Given the description of an element on the screen output the (x, y) to click on. 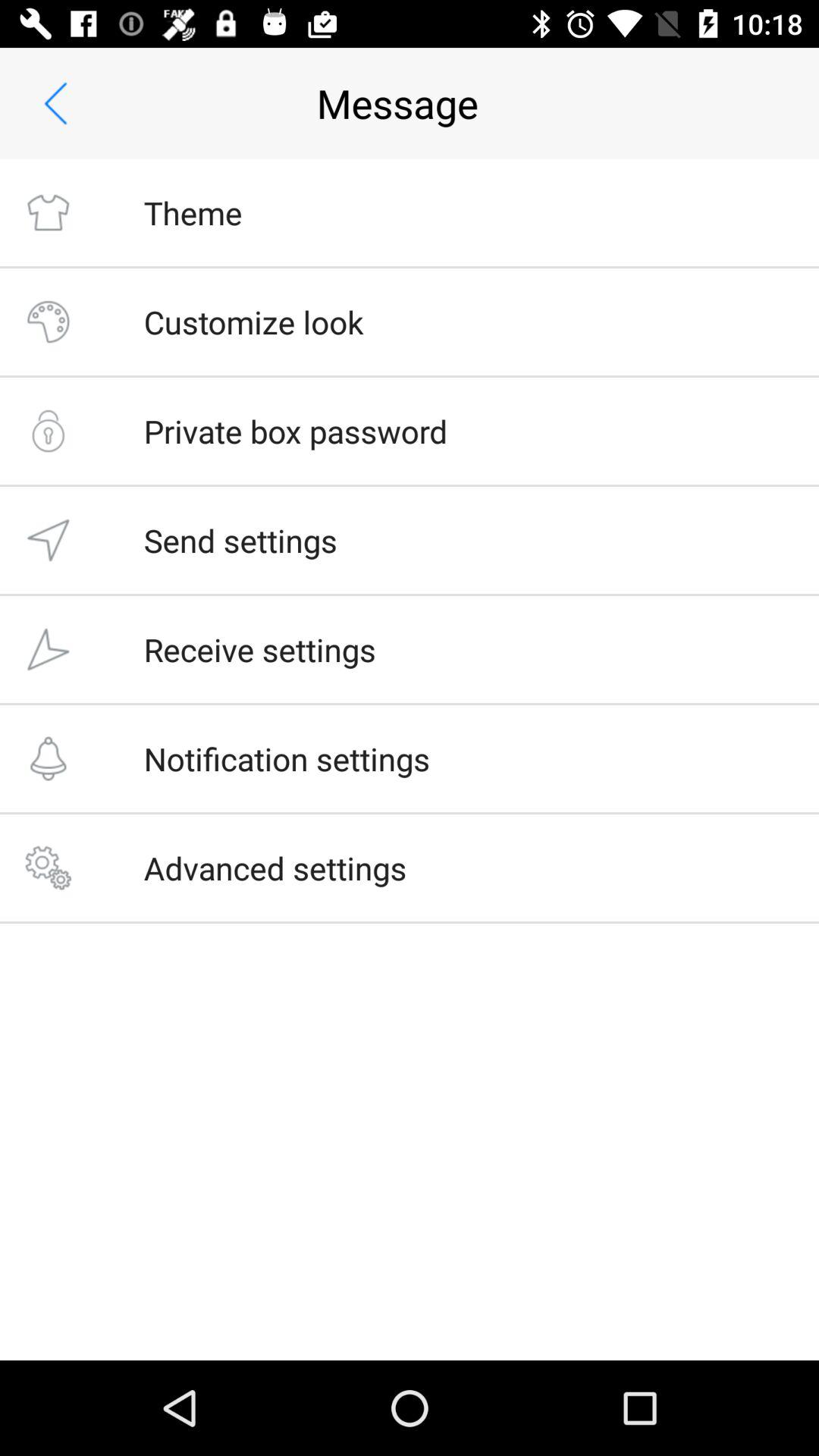
scroll until the customize look icon (253, 321)
